Given the description of an element on the screen output the (x, y) to click on. 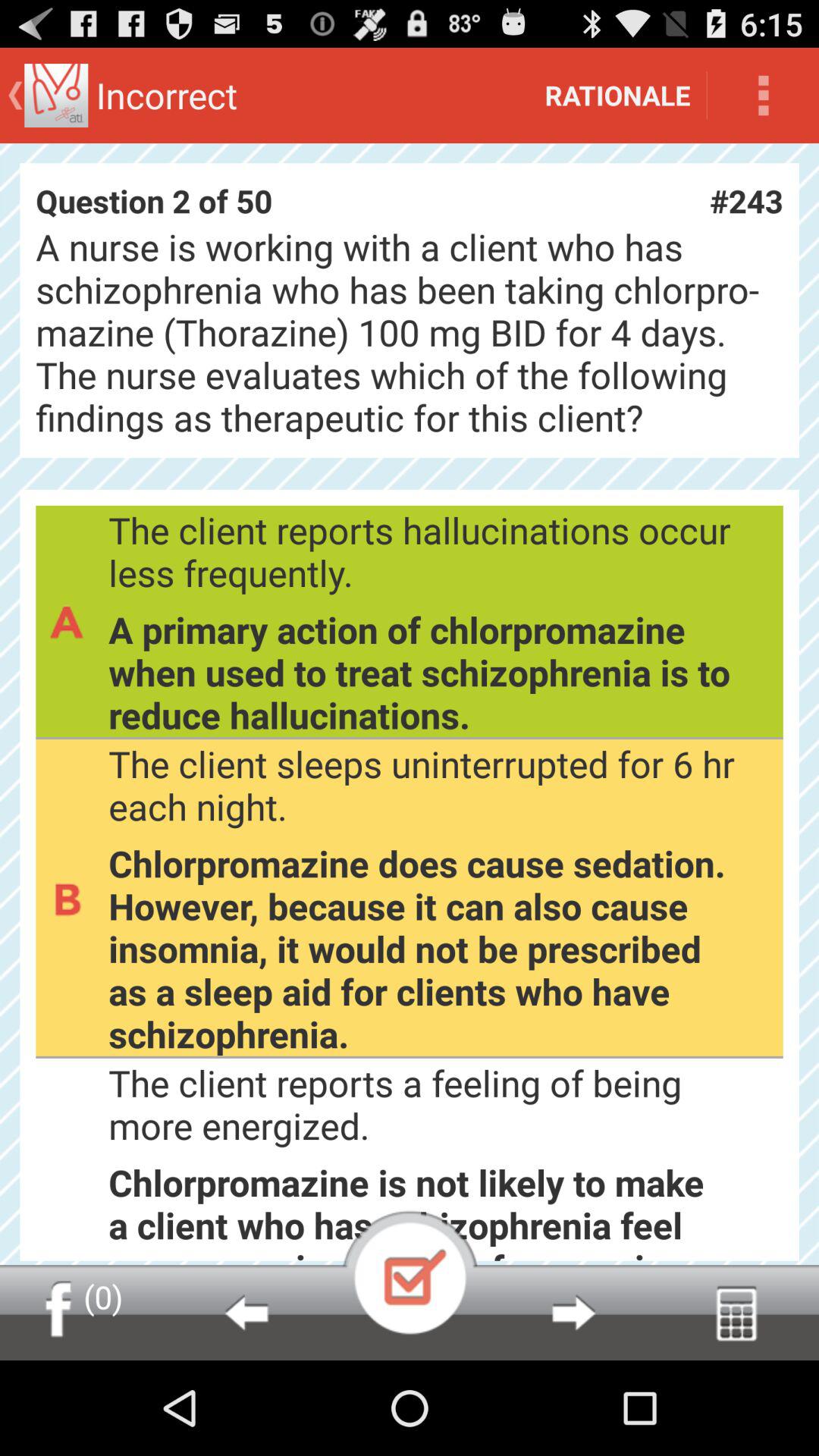
select icon below chlorpromazine is not icon (736, 1312)
